Given the description of an element on the screen output the (x, y) to click on. 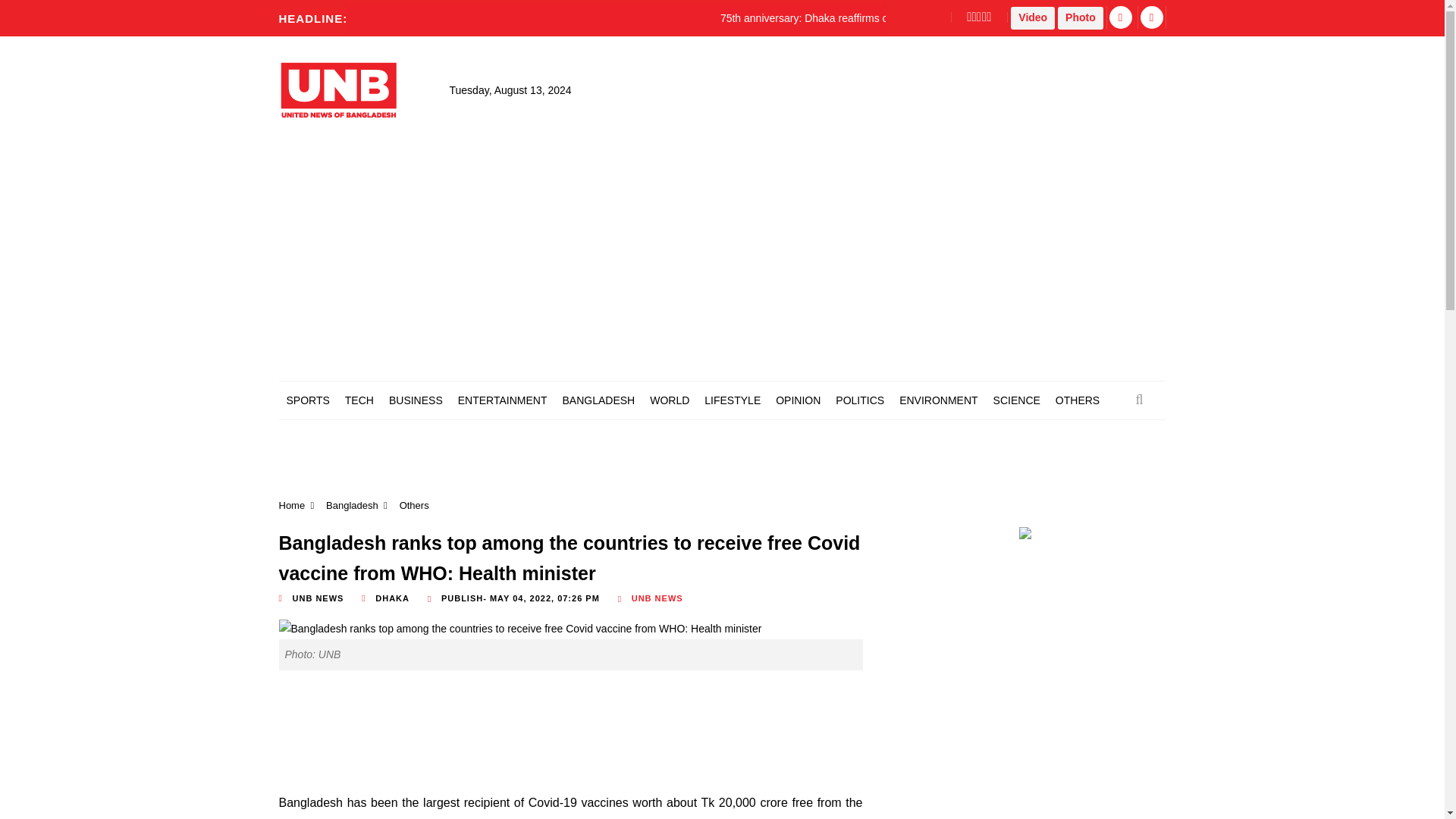
Video (1031, 17)
BANGLADESH (598, 400)
ENTERTAINMENT (501, 400)
Photo (1080, 17)
Photo (1080, 17)
SPORTS (308, 400)
TECH (359, 400)
Video (1032, 17)
BUSINESS (415, 400)
